Given the description of an element on the screen output the (x, y) to click on. 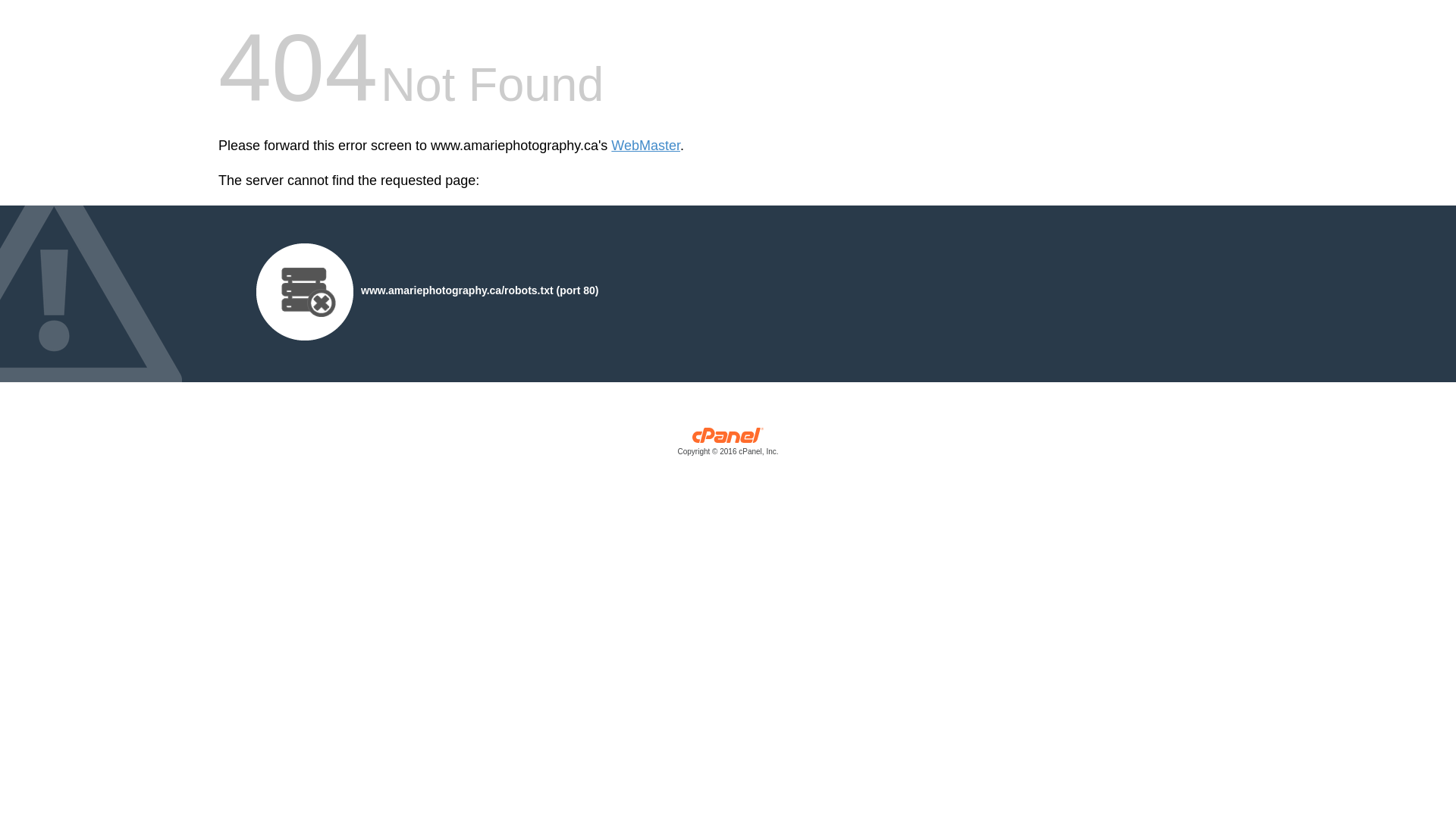
WebMaster Element type: text (645, 145)
